Given the description of an element on the screen output the (x, y) to click on. 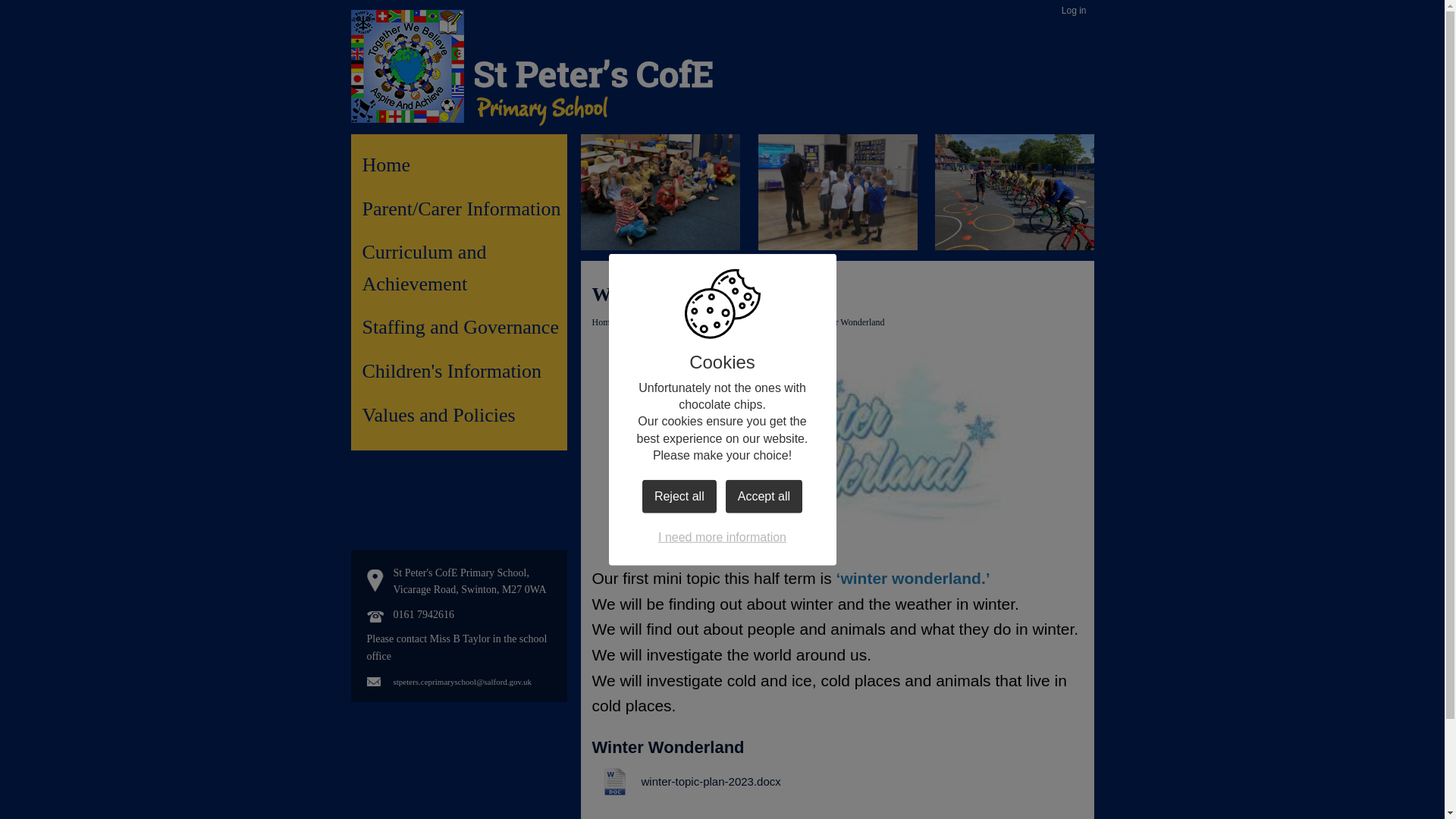
Reception (786, 321)
Class Pages (736, 321)
Winter Wonderland (849, 321)
Log in (1073, 11)
Home (601, 321)
Children's Information (664, 321)
Home (464, 164)
winter-topic-plan-2023.docx (685, 781)
